Given the description of an element on the screen output the (x, y) to click on. 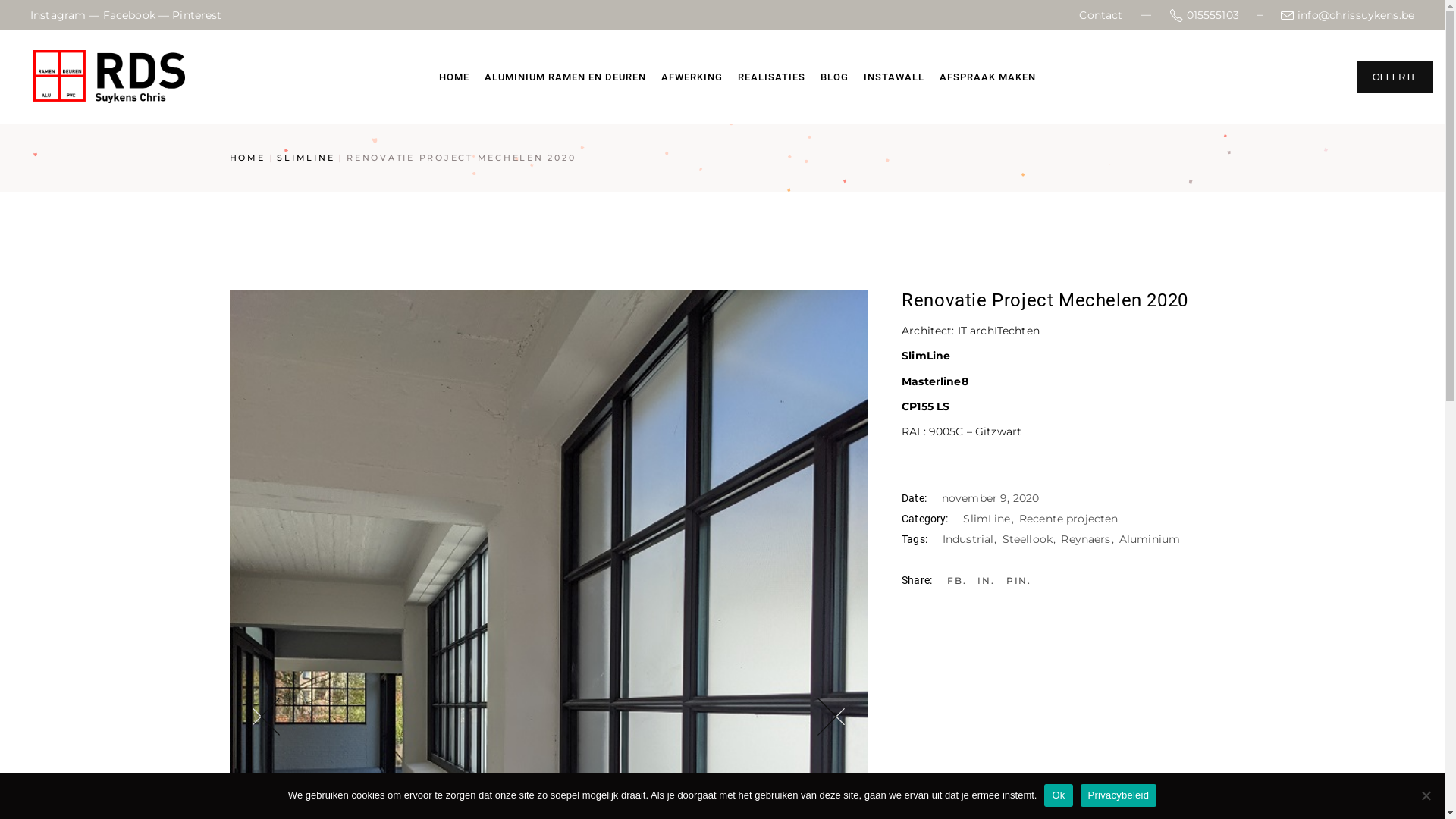
Aluminium Element type: text (1149, 539)
OFFERTE Element type: text (1391, 76)
SlimLine Element type: text (925, 355)
Privacybeleid Element type: text (1118, 795)
Pinterest Element type: text (196, 14)
Contact Element type: text (1100, 14)
AFSPRAAK MAKEN Element type: text (987, 76)
Recente projecten Element type: text (1068, 518)
HOME Element type: text (246, 157)
REALISATIES Element type: text (771, 76)
FB Element type: text (956, 580)
OFFERTE Element type: text (1394, 75)
Instagram Element type: text (57, 14)
AFWERKING Element type: text (690, 76)
SLIMLINE Element type: text (305, 157)
015555103 Element type: text (1203, 15)
INSTAWALL Element type: text (893, 76)
Ok Element type: text (1058, 795)
Steellook Element type: text (1030, 539)
IN Element type: text (985, 580)
CP155 LS Element type: text (925, 406)
Industrial Element type: text (970, 539)
ALUMINIUM RAMEN EN DEUREN Element type: text (564, 76)
info@chrissuykens.be Element type: text (1347, 15)
PIN Element type: text (1018, 580)
BLOG Element type: text (833, 76)
Facebook Element type: text (129, 14)
SlimLine Element type: text (989, 518)
Masterline8 Element type: text (934, 381)
HOME Element type: text (454, 76)
Reynaers Element type: text (1087, 539)
